Given the description of an element on the screen output the (x, y) to click on. 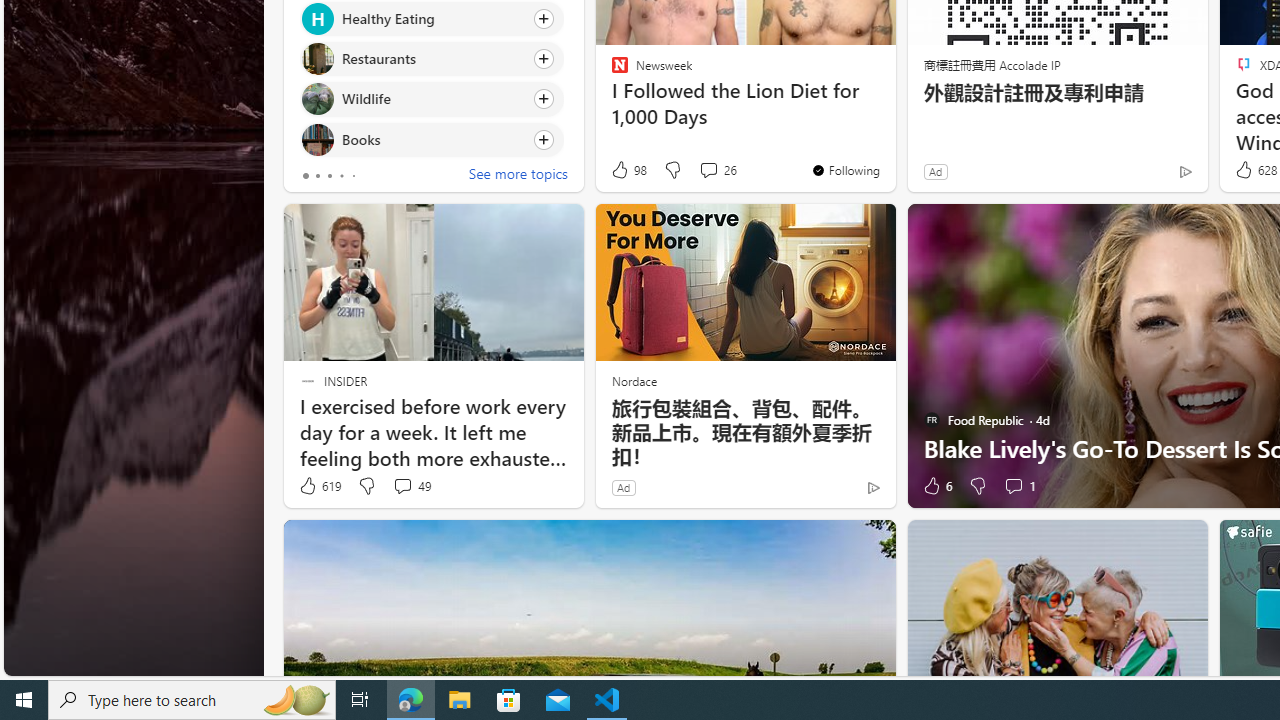
View comments 1 Comment (1019, 485)
View comments 26 Comment (716, 170)
98 Like (628, 170)
See more topics (518, 175)
View comments 26 Comment (708, 169)
tab-2 (328, 175)
Click to follow topic Restaurants (431, 59)
tab-4 (352, 175)
Click to follow topic Books (431, 138)
Click to follow topic Healthy Eating (431, 18)
Ad Choice (873, 487)
View comments 1 Comment (1013, 485)
